Given the description of an element on the screen output the (x, y) to click on. 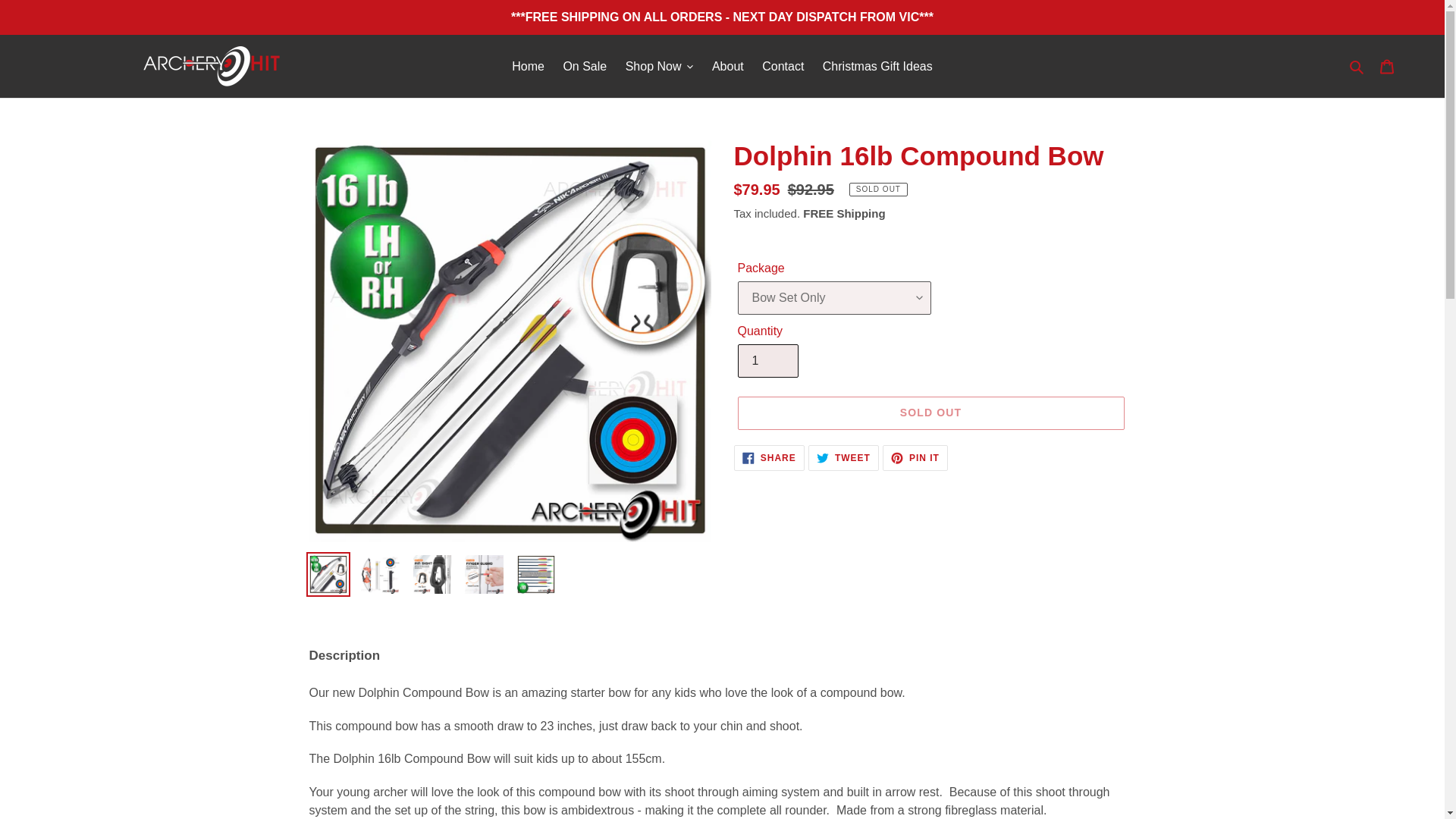
Contact (782, 65)
Shop Now (659, 65)
On Sale (584, 65)
Christmas Gift Ideas (877, 65)
Cart (1387, 66)
Search (1357, 66)
1 (766, 360)
Home (527, 65)
About (727, 65)
